Given the description of an element on the screen output the (x, y) to click on. 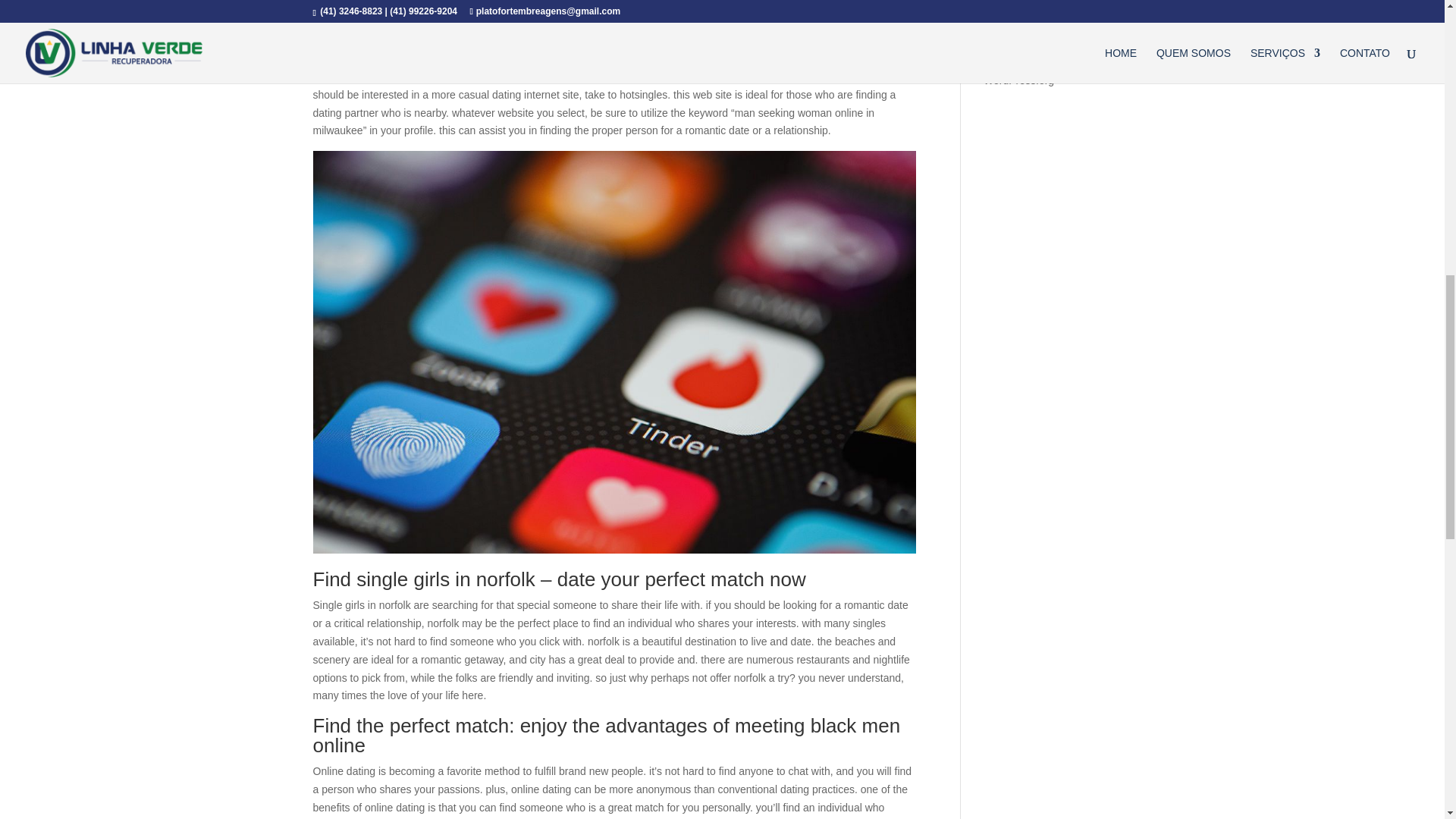
Feed de posts (1017, 33)
WordPress.org (1019, 80)
Acessar (1003, 10)
